Given the description of an element on the screen output the (x, y) to click on. 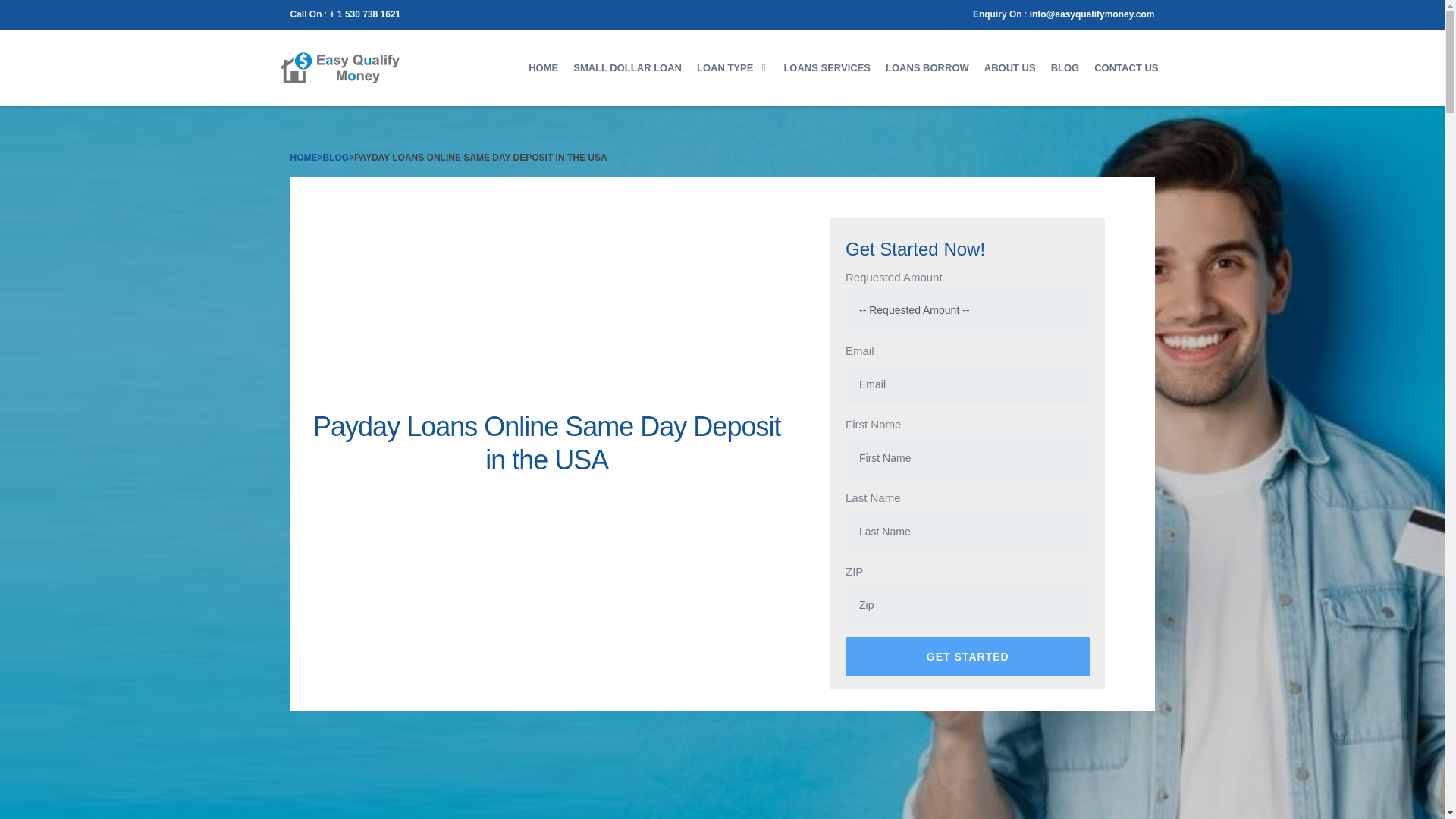
SMALL DOLLAR LOAN (627, 67)
LOAN TYPE (732, 67)
Go to the Blog Category archives. (336, 157)
Go to Home. (303, 157)
GET STARTED (967, 656)
HOME (543, 67)
BLOG (1065, 67)
HOME (303, 157)
LOANS SERVICES (826, 67)
LOANS BORROW (926, 67)
CONTACT US (1126, 67)
ABOUT US (1009, 67)
BLOG (336, 157)
